Given the description of an element on the screen output the (x, y) to click on. 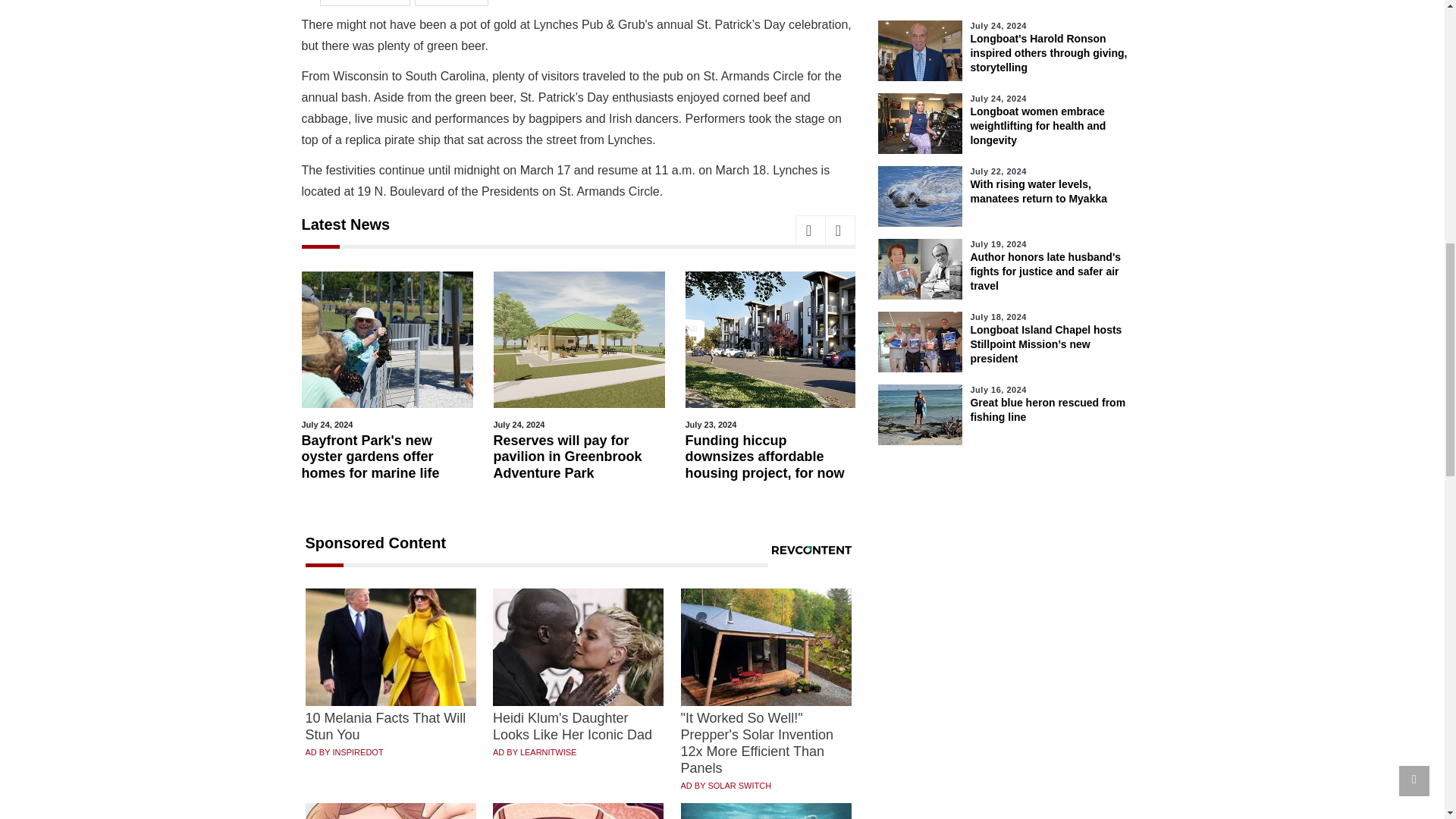
3rd party ad content (1010, 574)
3rd party ad content (1010, 755)
